Given the description of an element on the screen output the (x, y) to click on. 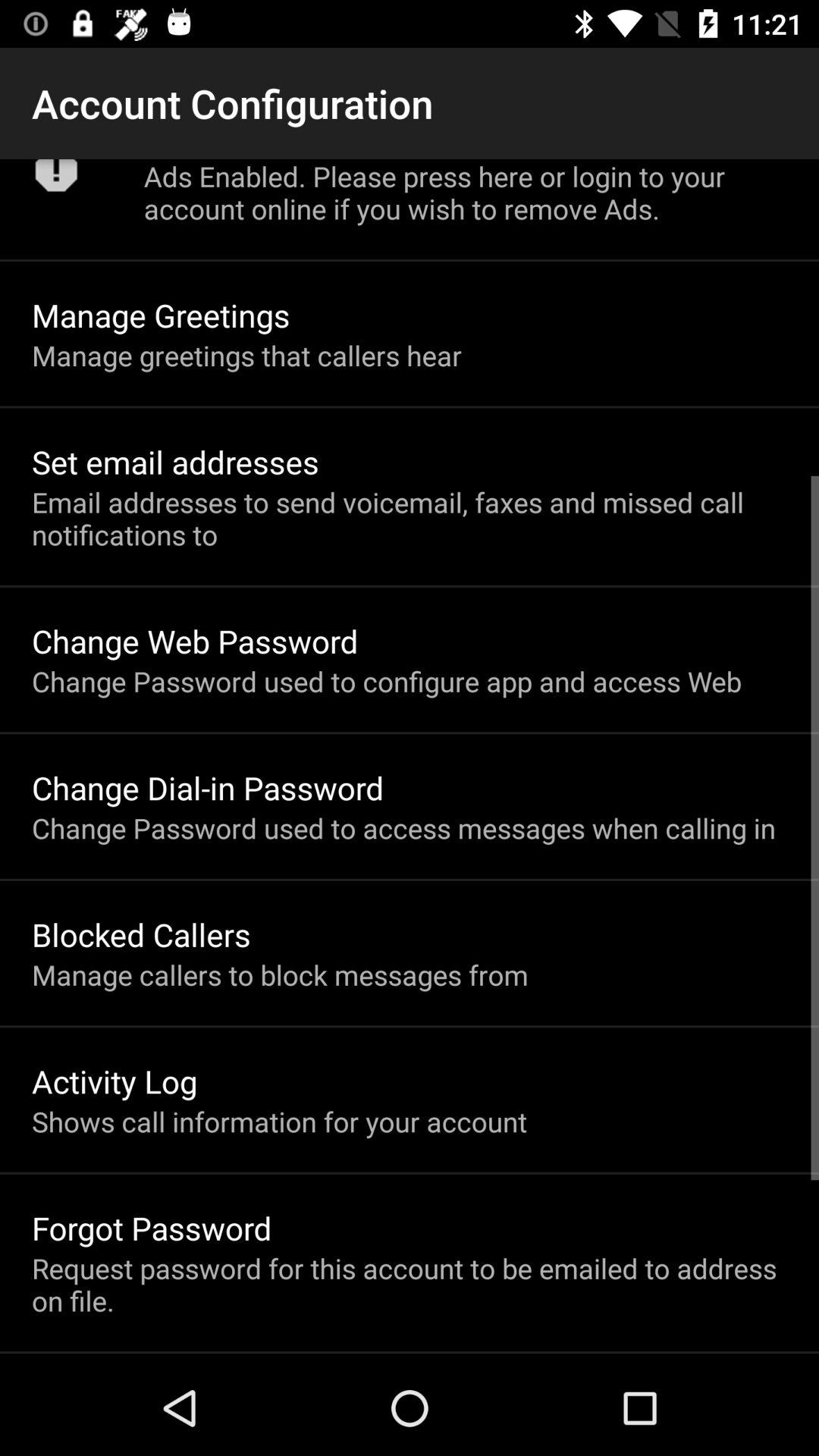
launch the blocked callers item (140, 934)
